Given the description of an element on the screen output the (x, y) to click on. 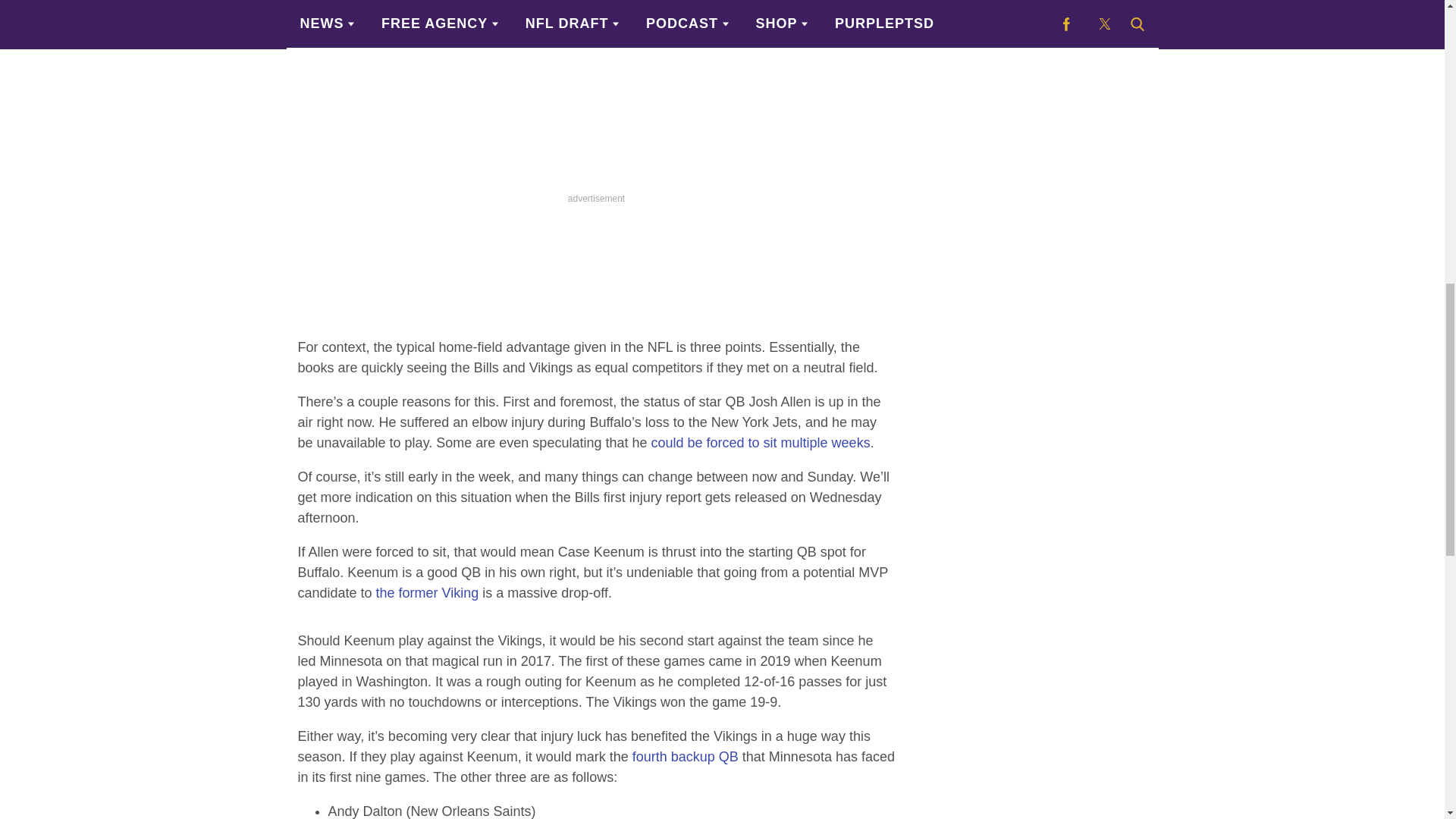
BetOnline.ag (443, 37)
7.5-point spread in favor of the Bills (517, 2)
the former Viking (427, 592)
could be forced to sit multiple weeks (759, 442)
fourth backup QB (684, 756)
